Given the description of an element on the screen output the (x, y) to click on. 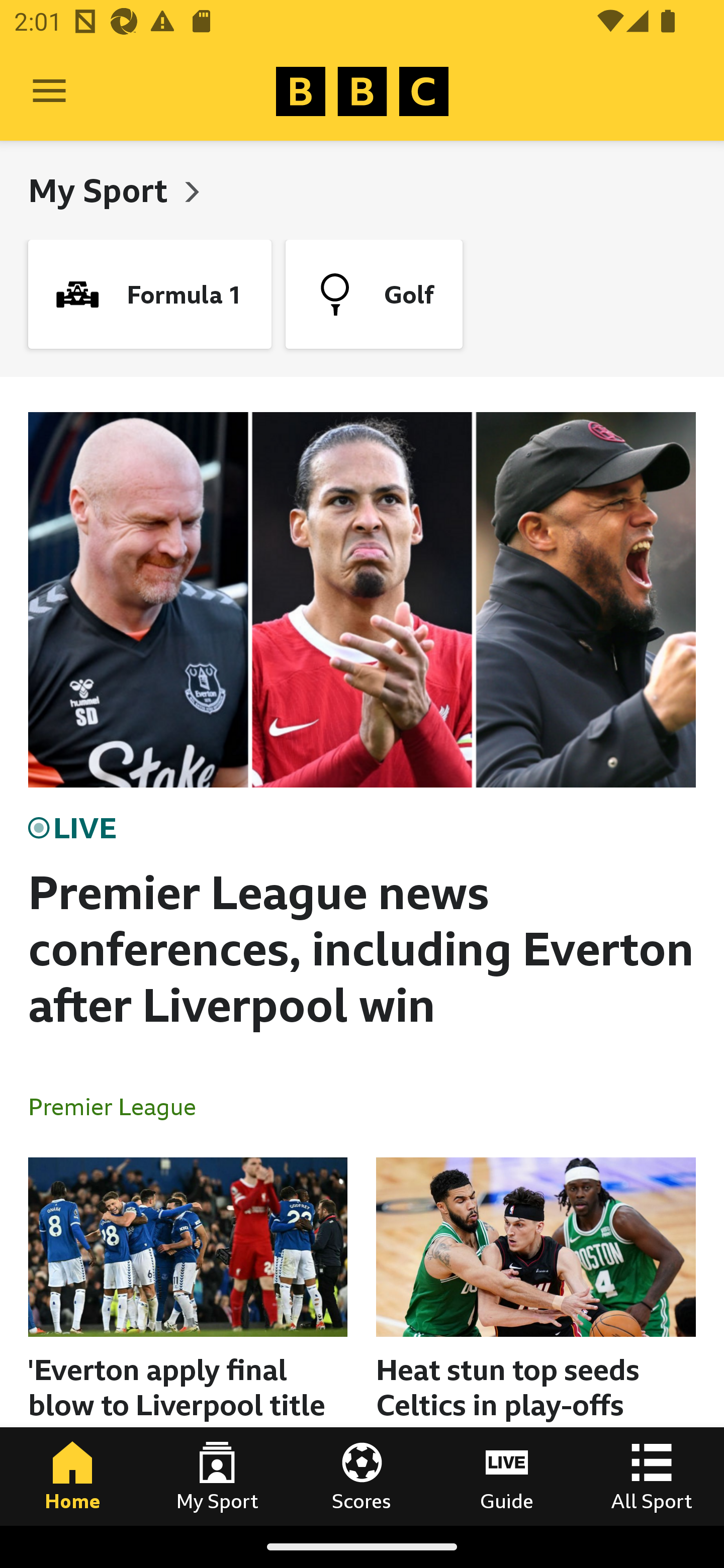
Open Menu (49, 91)
My Sport (101, 190)
Premier League In the section Premier League (119, 1106)
My Sport (216, 1475)
Scores (361, 1475)
Guide (506, 1475)
All Sport (651, 1475)
